Given the description of an element on the screen output the (x, y) to click on. 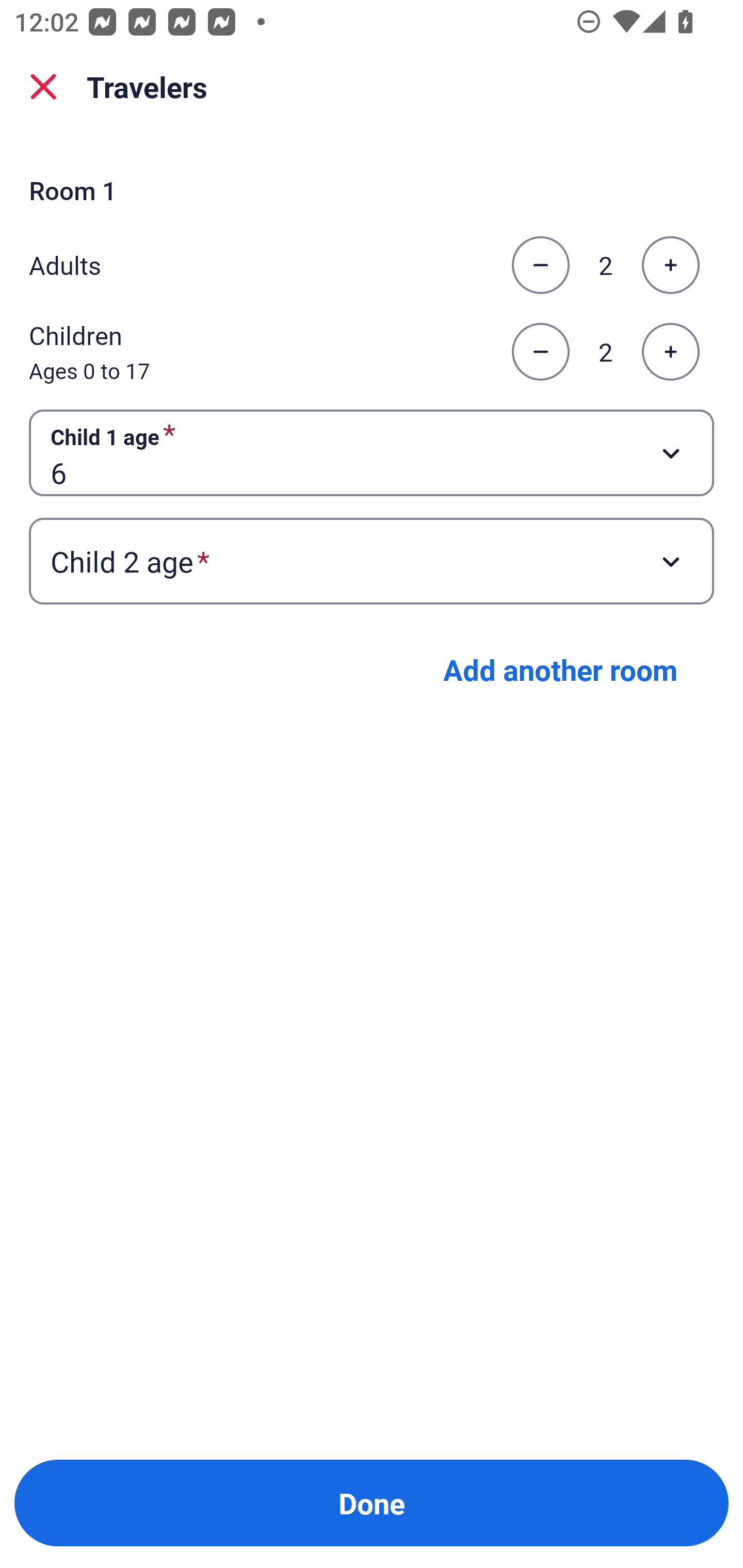
close (43, 86)
Decrease the number of adults (540, 264)
Increase the number of adults (670, 264)
Decrease the number of children (540, 351)
Increase the number of children (670, 351)
Child 1 age required Button 6 (371, 452)
Child 2 age required Button (371, 561)
Add another room (560, 669)
Done (371, 1502)
